Given the description of an element on the screen output the (x, y) to click on. 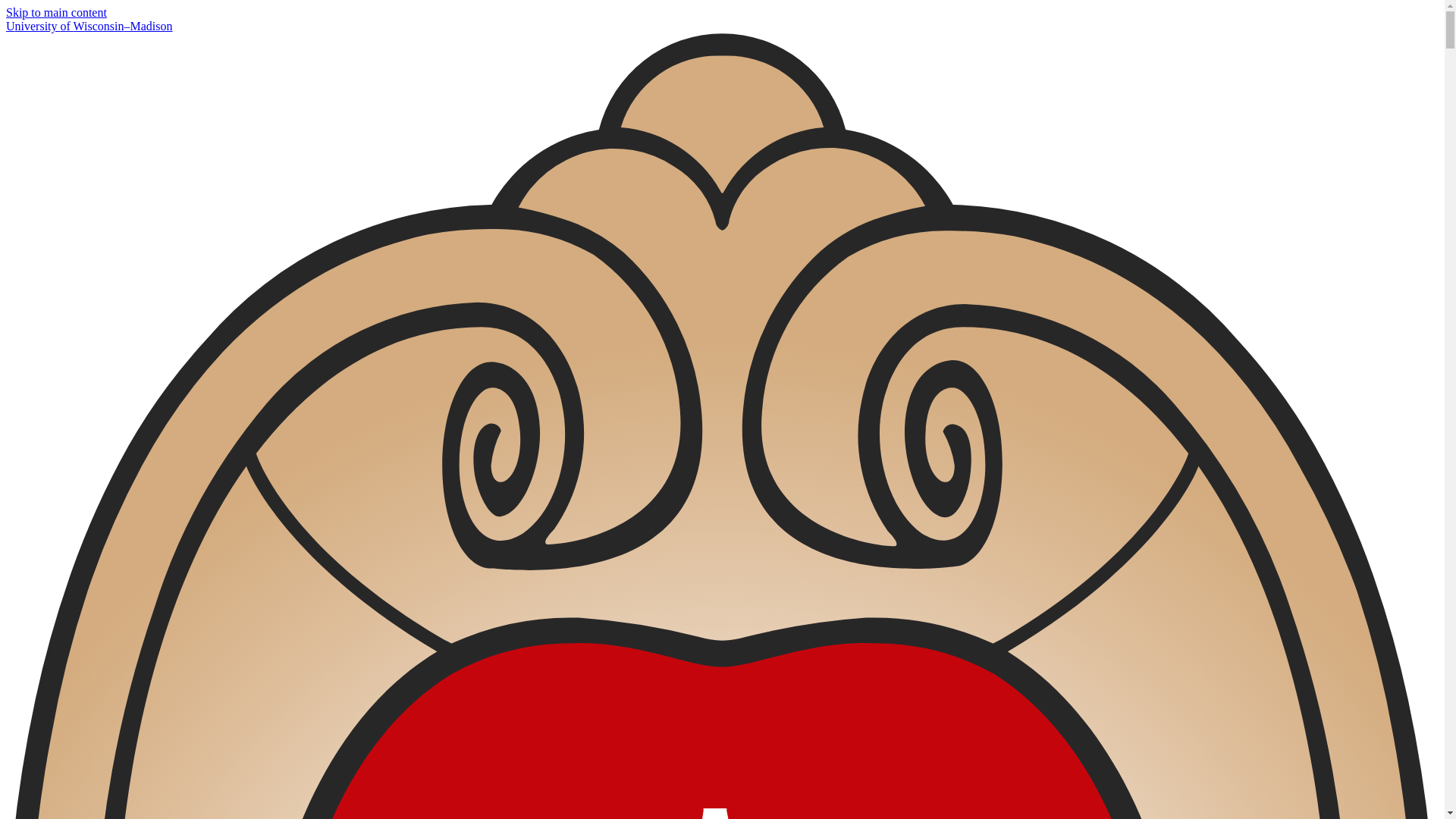
Skip to main content (55, 11)
